Given the description of an element on the screen output the (x, y) to click on. 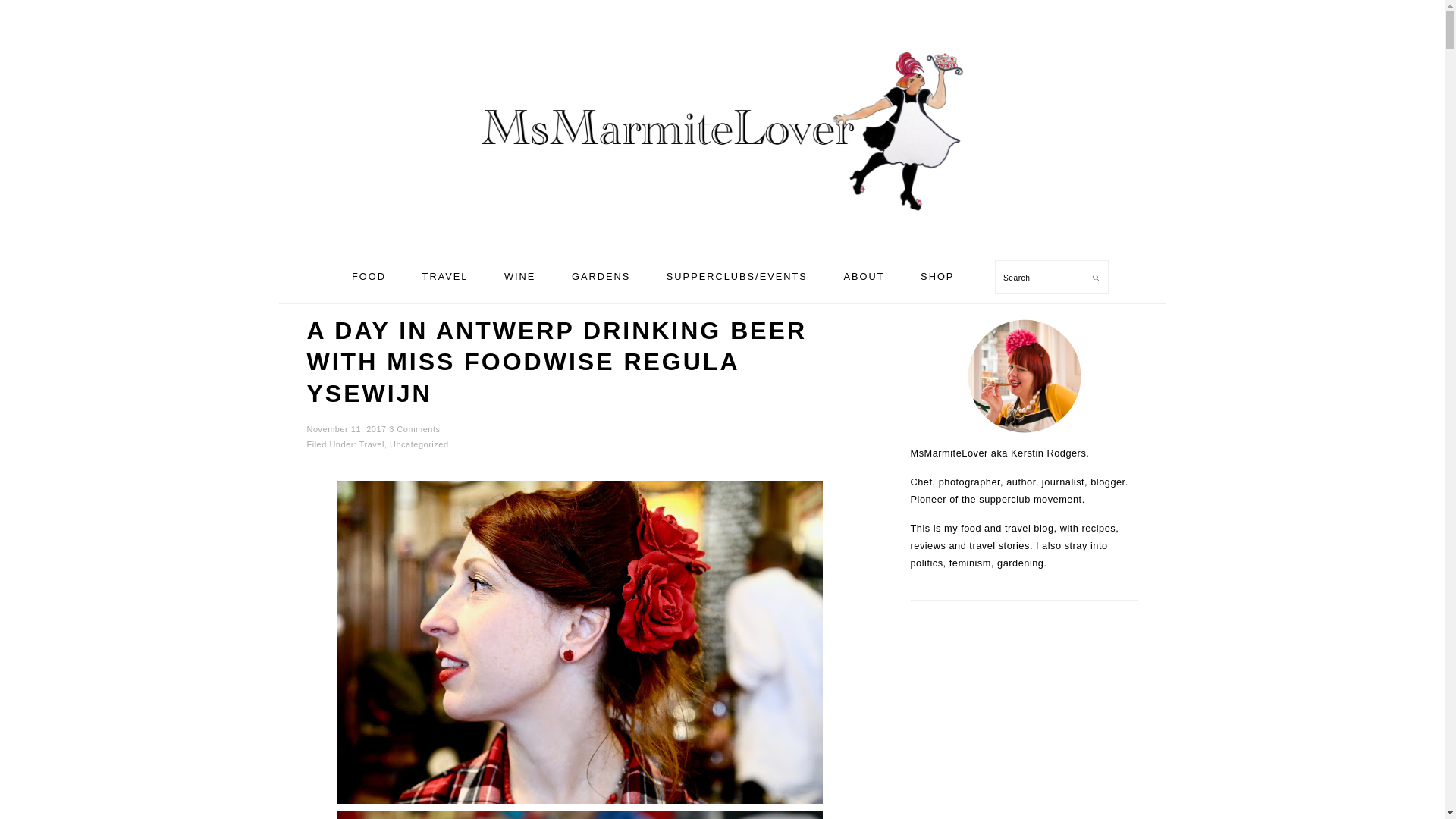
WINE (519, 276)
ABOUT (863, 276)
Uncategorized (419, 443)
TRAVEL (445, 276)
GARDENS (601, 276)
SHOP (936, 276)
FOOD (368, 276)
Travel (371, 443)
3 Comments (413, 429)
